Given the description of an element on the screen output the (x, y) to click on. 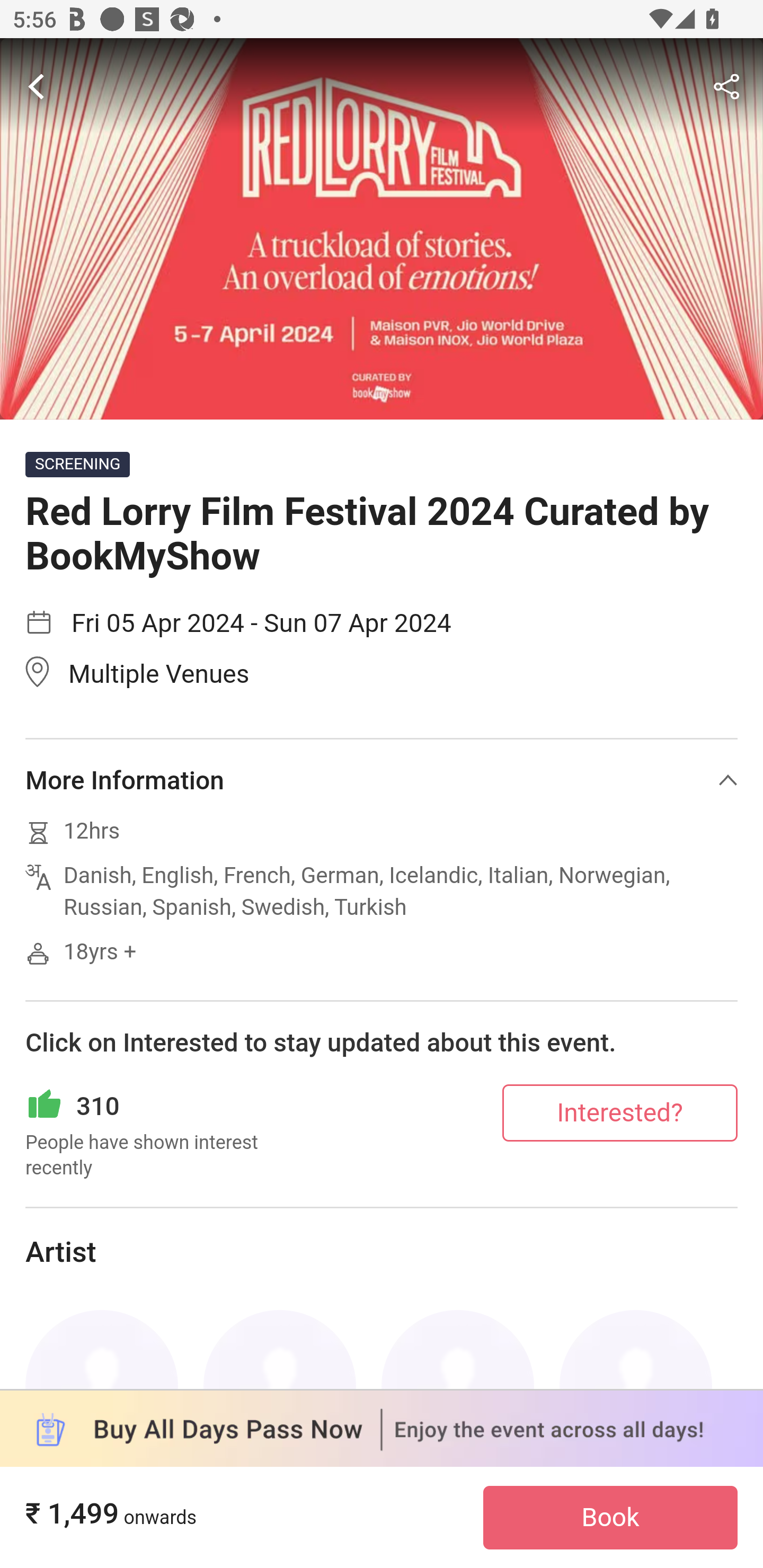
Red Lorry Film Festival 2024 Curated by BookMyShow (381, 228)
More Information (381, 781)
Interested? (619, 1113)
Book (609, 1517)
